Given the description of an element on the screen output the (x, y) to click on. 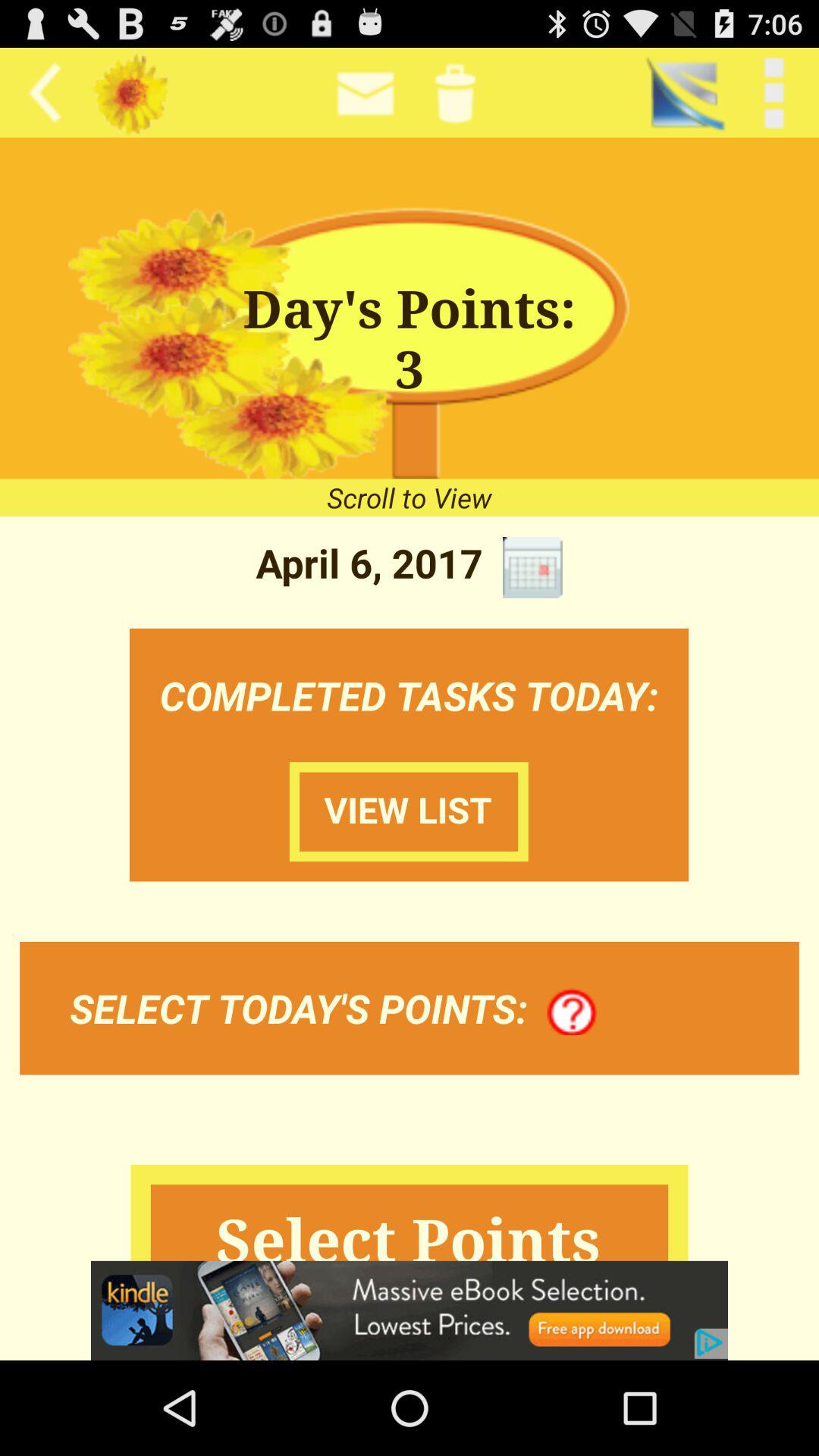
open help or explanation (572, 1012)
